Given the description of an element on the screen output the (x, y) to click on. 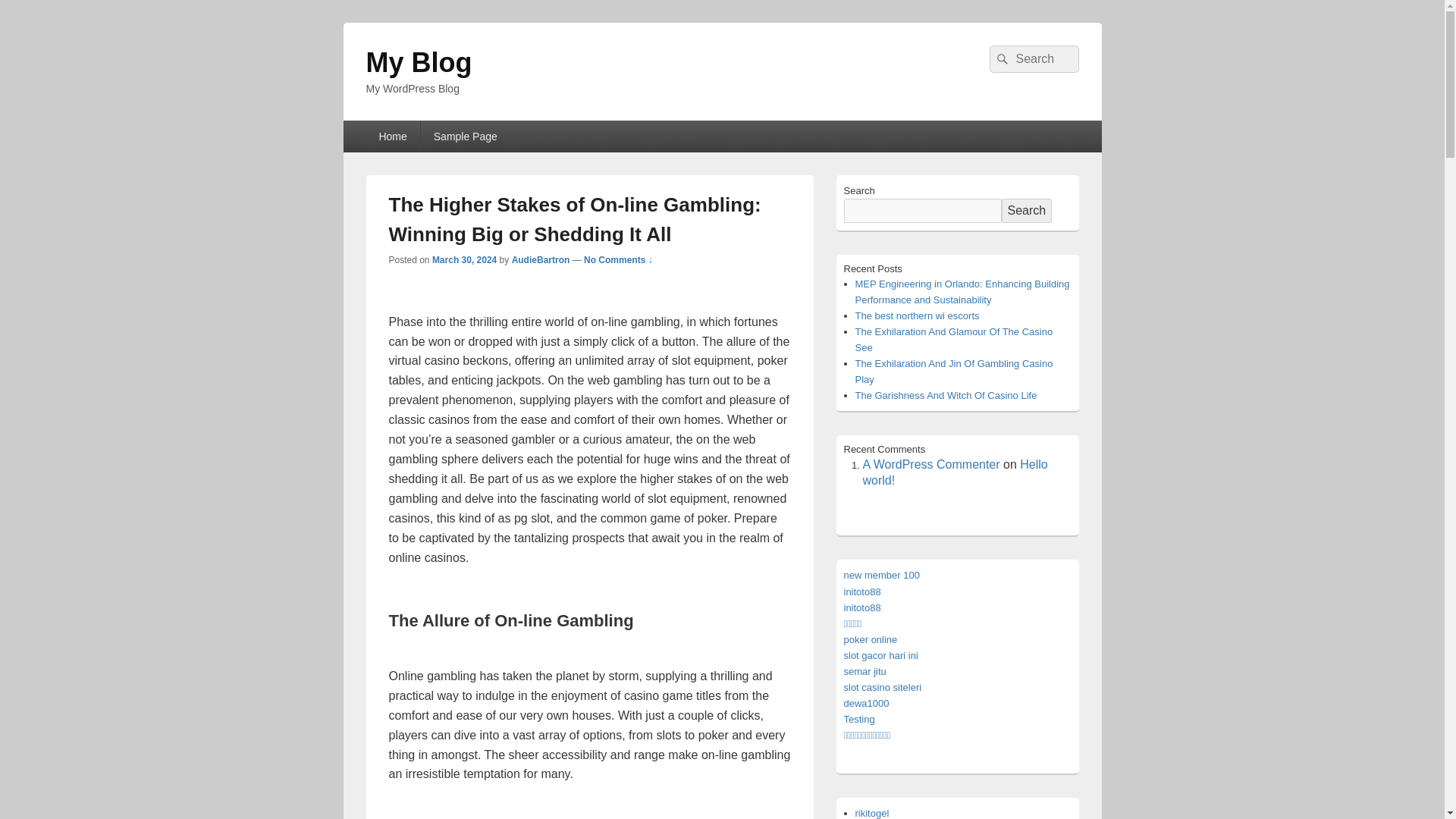
Search for: (1033, 58)
A WordPress Commenter (931, 463)
rikitogel (872, 813)
new member 100 (880, 574)
Sample Page (465, 136)
March 30, 2024 (464, 259)
Testing (859, 718)
View all posts by AudieBartron (541, 259)
The Exhilaration And Glamour Of The Casino See (954, 338)
The Exhilaration And Jin Of Gambling Casino Play (954, 370)
The Garishness And Witch Of Casino Life (946, 395)
Home (392, 136)
The best northern wi escorts (917, 315)
semar jitu (864, 671)
8:09 am (464, 259)
